Given the description of an element on the screen output the (x, y) to click on. 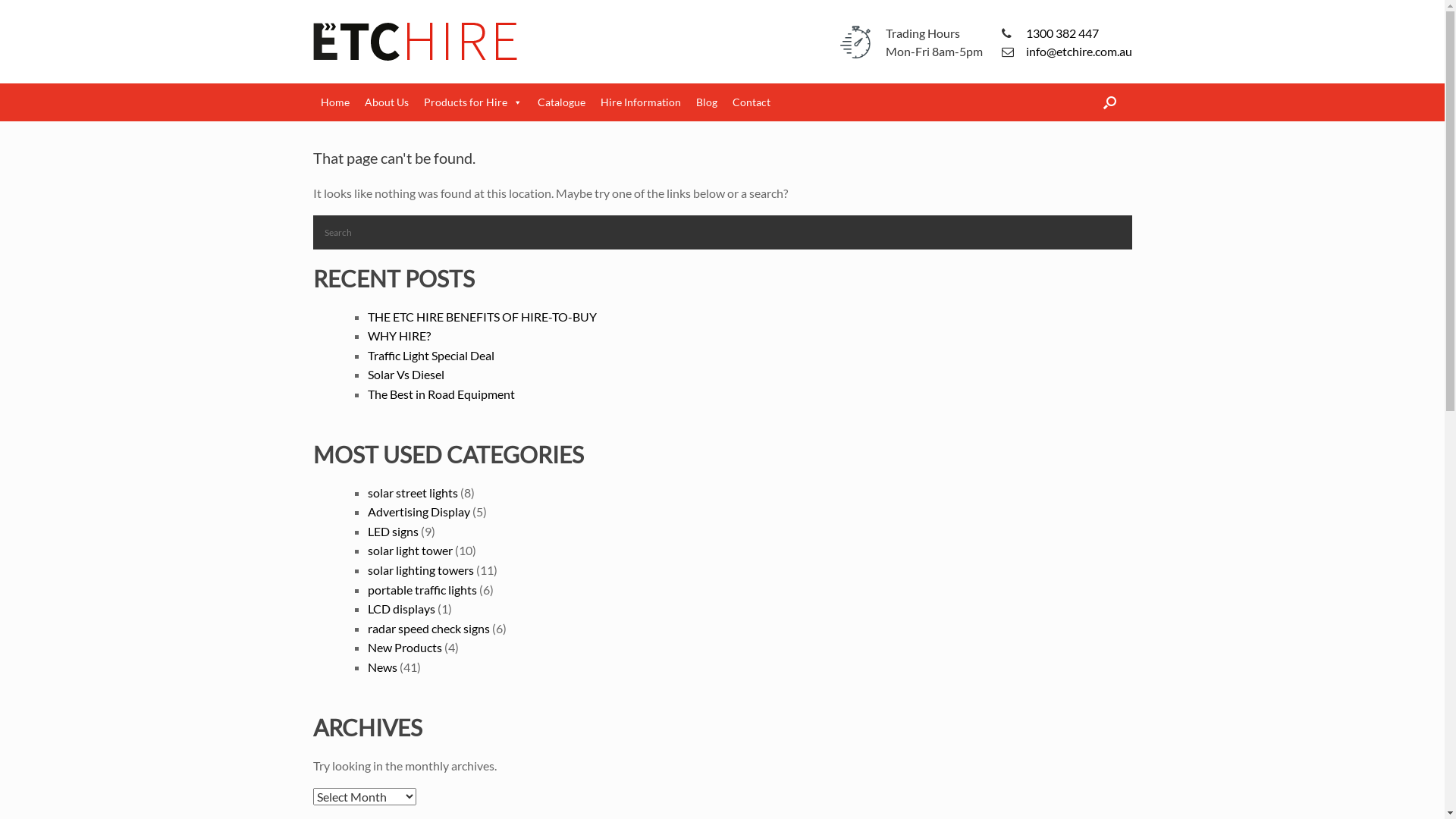
solar light tower Element type: text (409, 549)
WHY HIRE? Element type: text (398, 335)
Products for Hire Element type: text (472, 102)
Contact Element type: text (751, 102)
solar lighting towers Element type: text (420, 569)
Solar Vs Diesel Element type: text (405, 374)
portable traffic lights Element type: text (421, 589)
The Best in Road Equipment Element type: text (440, 393)
LED signs Element type: text (392, 531)
solar street lights Element type: text (412, 492)
Catalogue Element type: text (560, 102)
THE ETC HIRE BENEFITS OF HIRE-TO-BUY Element type: text (481, 316)
radar speed check signs Element type: text (428, 628)
New Products Element type: text (404, 647)
1300 382 447 Element type: text (1061, 32)
Hire Information Element type: text (640, 102)
Advertising Display Element type: text (418, 511)
Traffic Light Special Deal Element type: text (430, 355)
About Us Element type: text (385, 102)
ETC Hire Element type: hover (414, 41)
info@etchire.com.au Element type: text (1078, 50)
News Element type: text (381, 666)
Blog Element type: text (706, 102)
Home Element type: text (334, 102)
LCD displays Element type: text (400, 608)
